Given the description of an element on the screen output the (x, y) to click on. 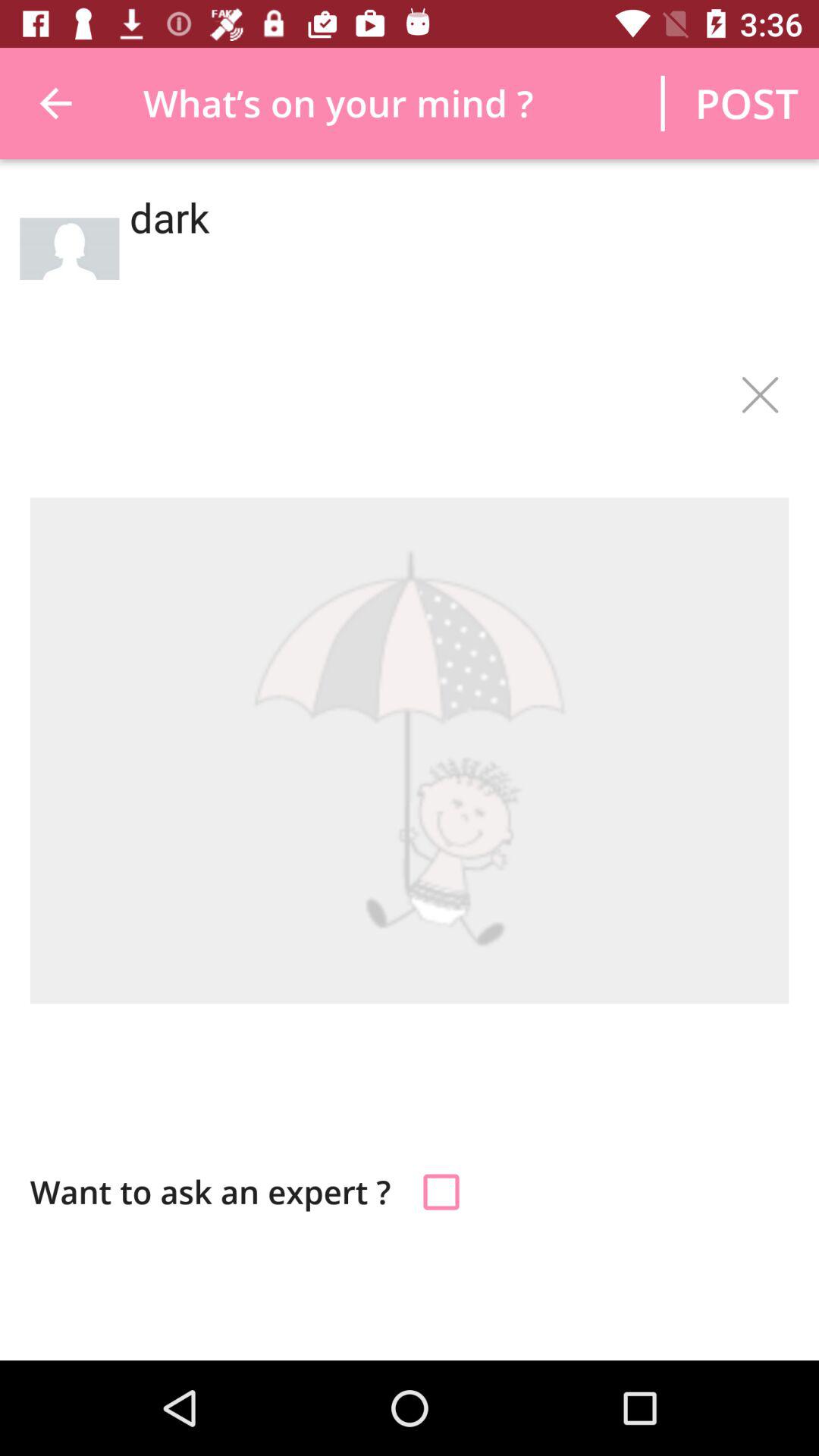
press the item above dark item (746, 103)
